Given the description of an element on the screen output the (x, y) to click on. 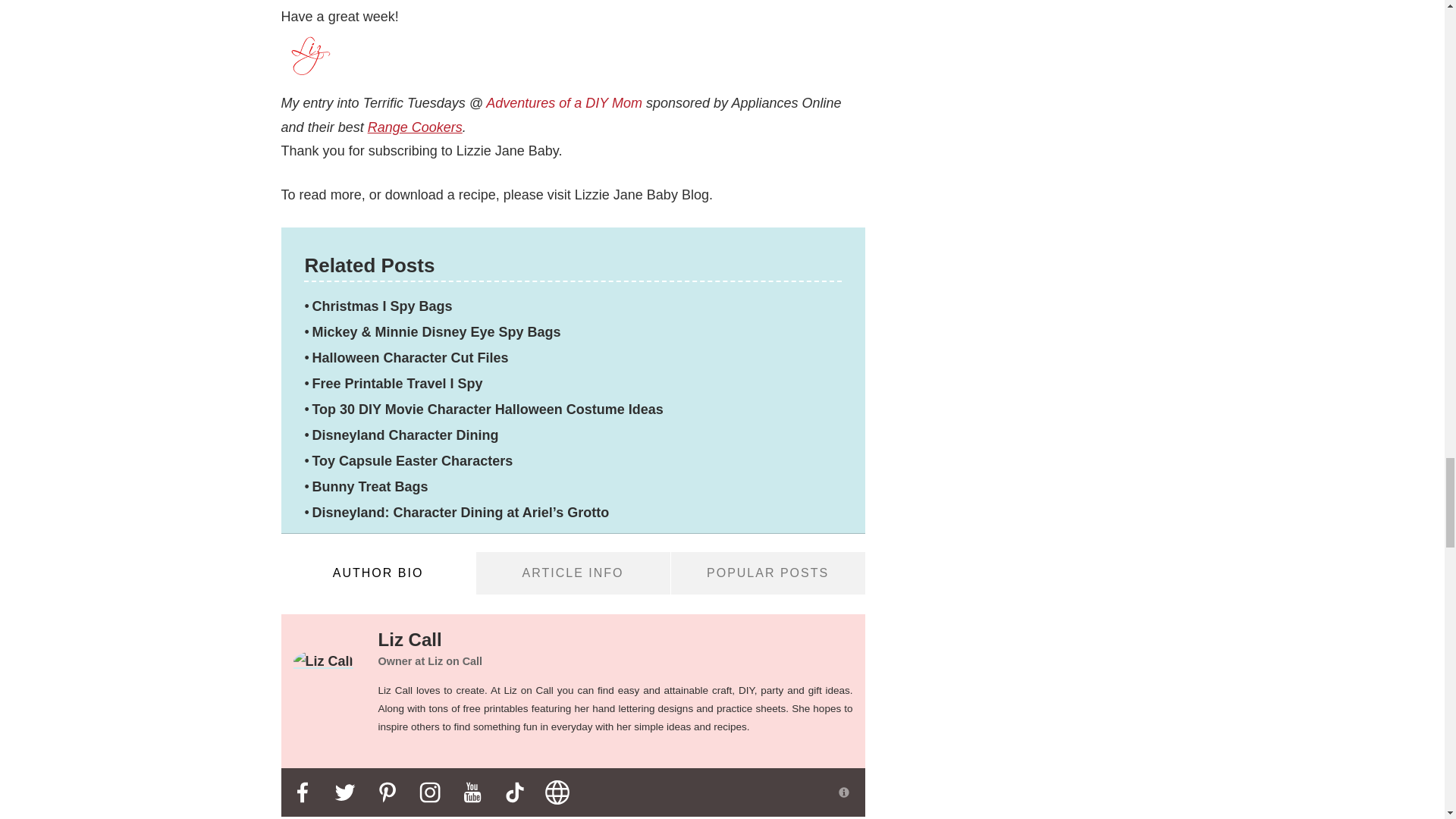
Liz Call (323, 662)
